Given the description of an element on the screen output the (x, y) to click on. 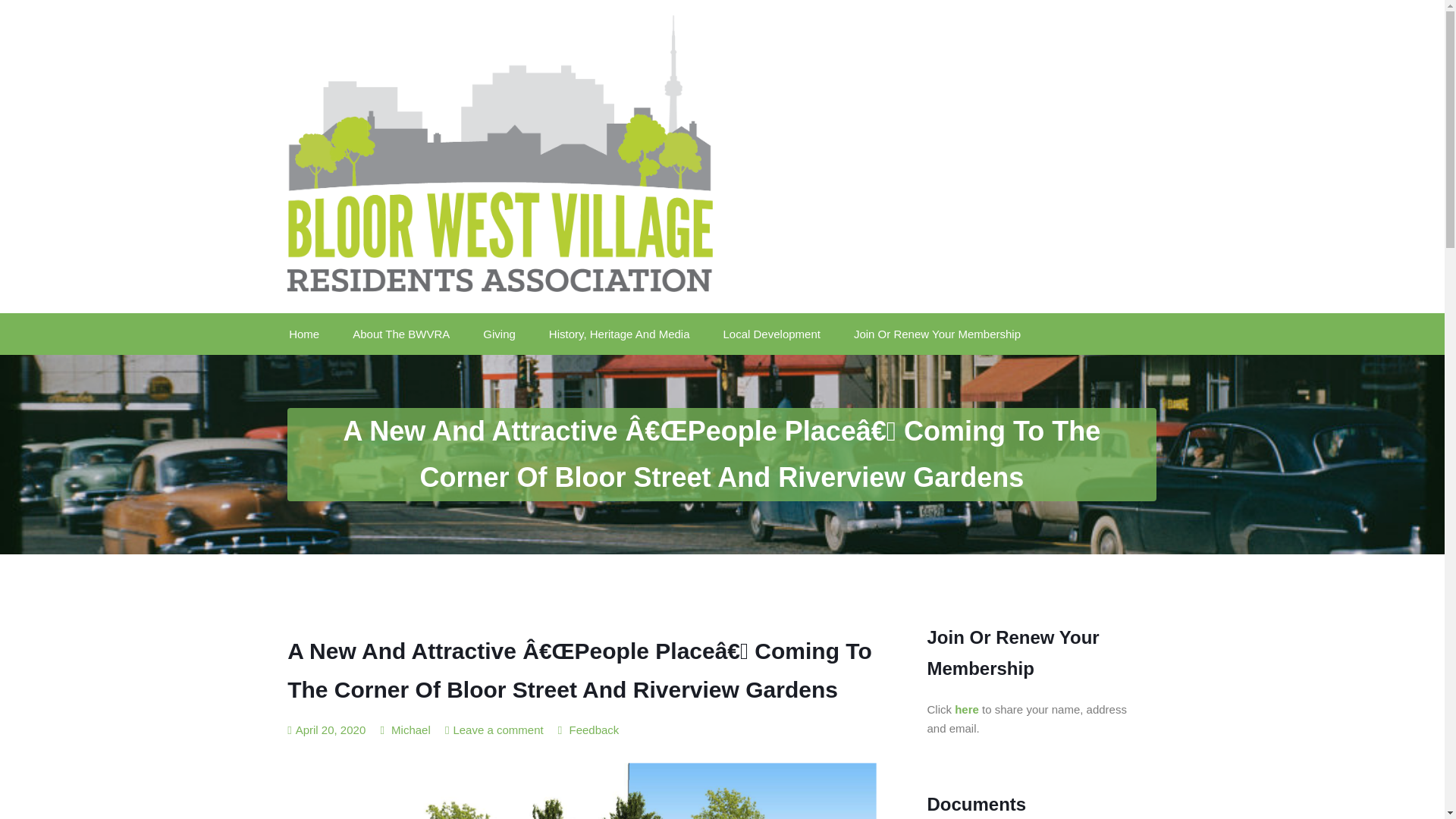
Giving (499, 333)
Home (311, 333)
April 20, 2020 (325, 729)
Join Or Renew Your Membership (936, 333)
Local Development (771, 333)
Michael (404, 729)
About The BWVRA (400, 333)
History, Heritage And Media (619, 333)
Feedback (593, 729)
Leave a comment (497, 729)
